Given the description of an element on the screen output the (x, y) to click on. 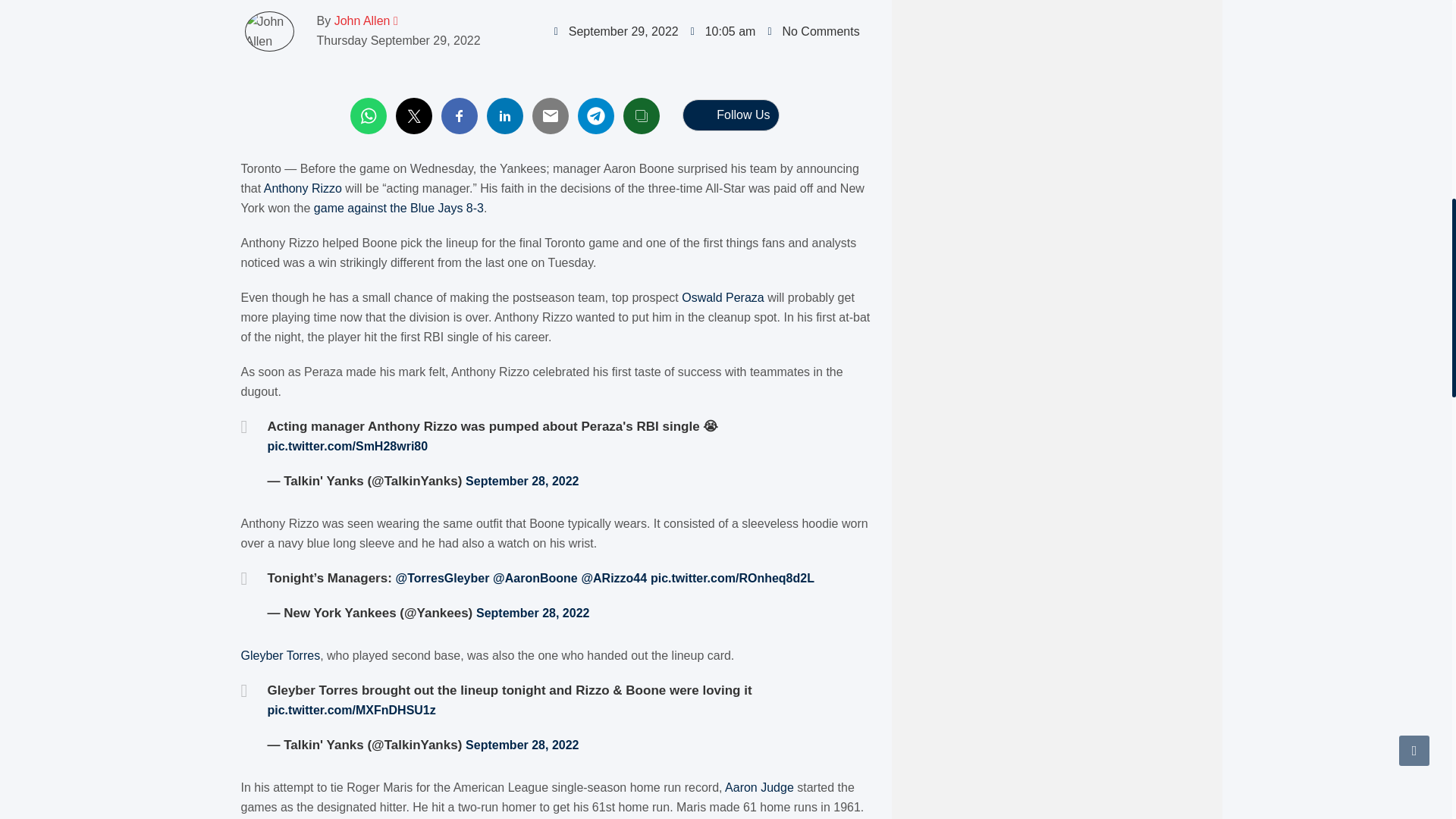
John Allen (362, 20)
No Comments (813, 31)
September 29, 2022 (616, 31)
